Given the description of an element on the screen output the (x, y) to click on. 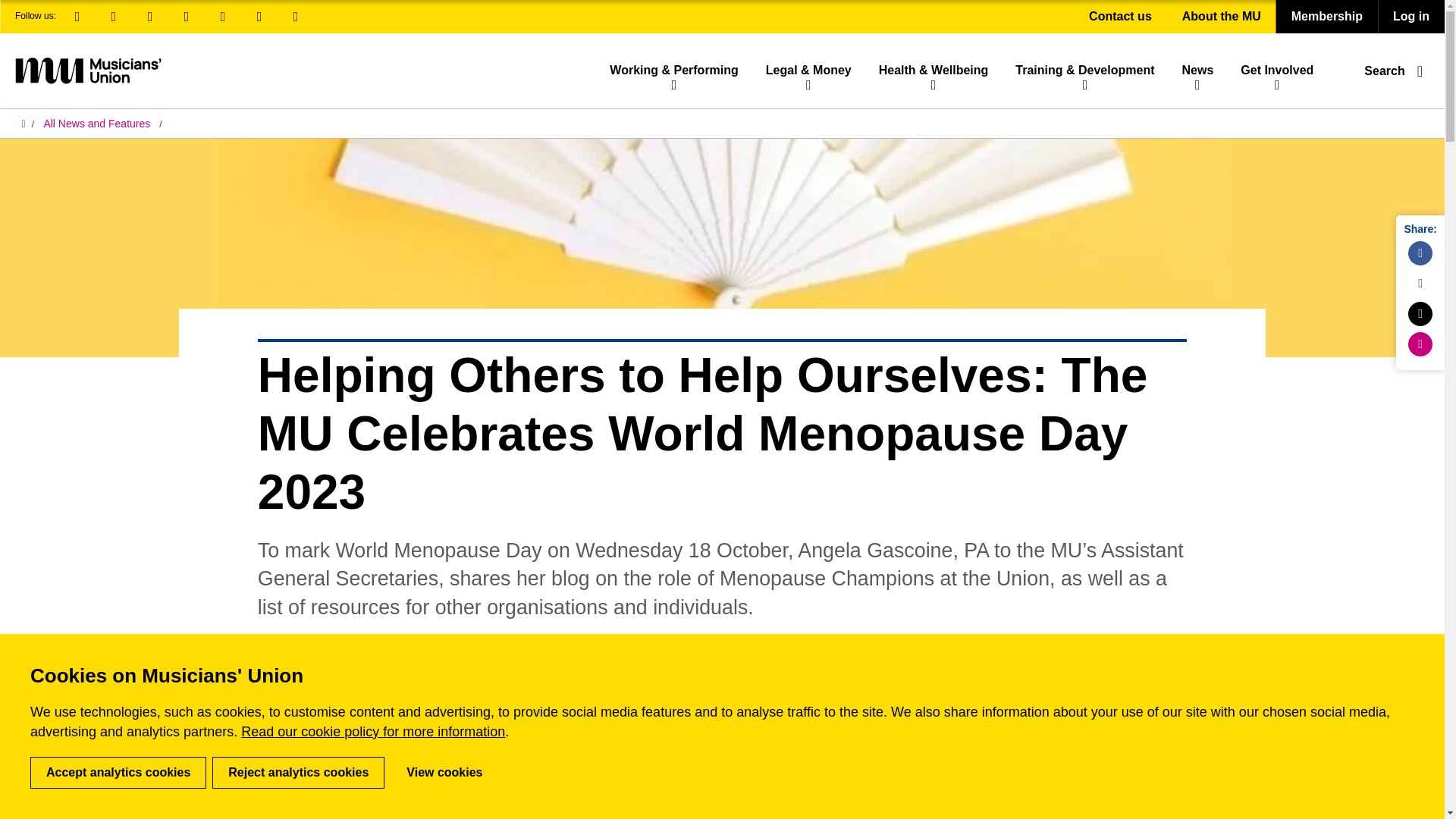
View cookies (443, 772)
Instagram (186, 16)
Share on X (1419, 313)
Accept analytics cookies (118, 772)
Get Involved (1276, 69)
News (1197, 69)
The Musicians' Union (87, 70)
YouTube (259, 16)
LinkedIn (114, 16)
Accept analytics cookies (118, 772)
Membership (1326, 16)
Log in (1410, 16)
Share on LinkedIn (1419, 283)
Reject analytics cookies (298, 772)
Facebook (77, 16)
